Given the description of an element on the screen output the (x, y) to click on. 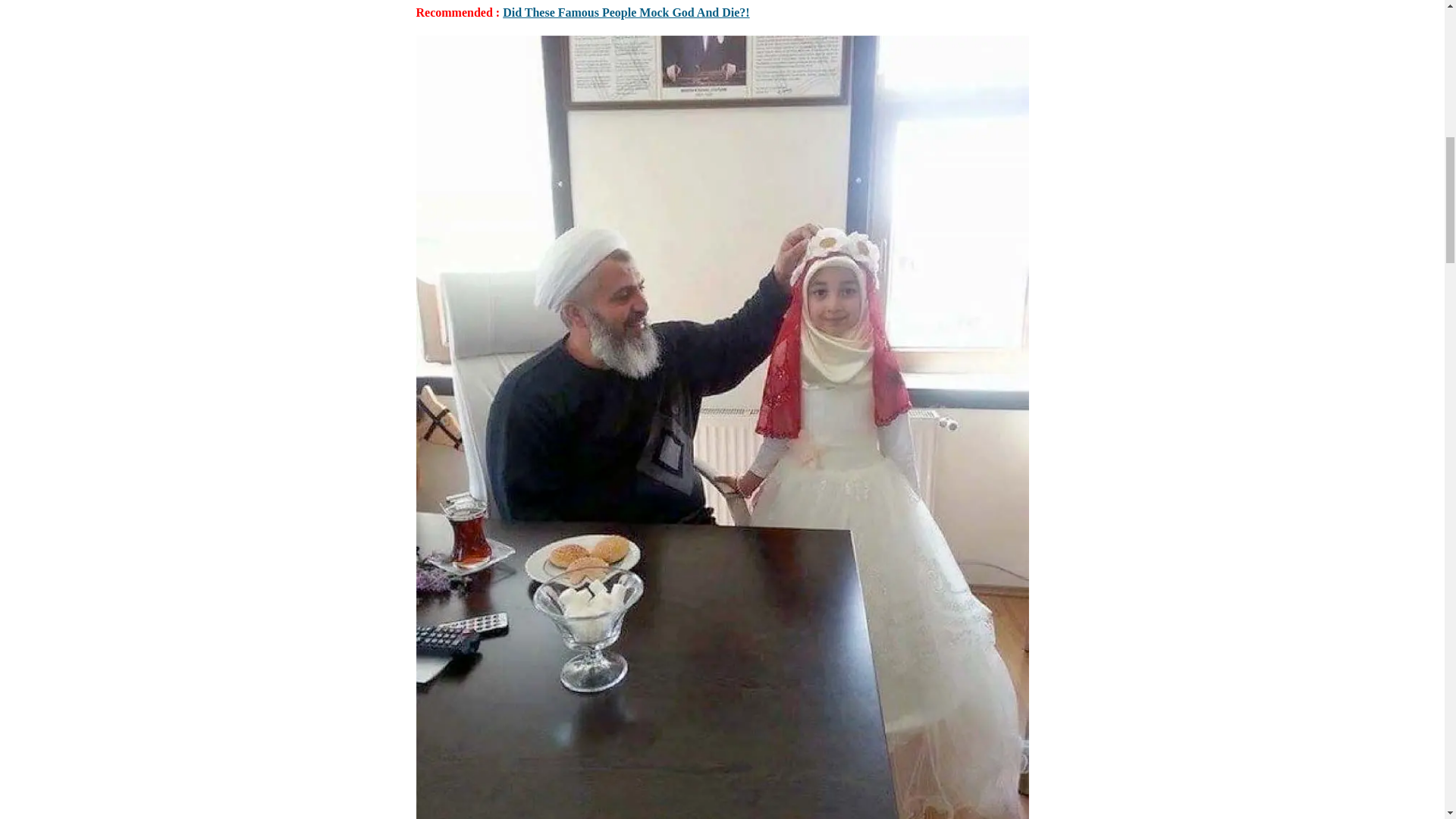
Did These Famous People Mock God And Die?! (625, 11)
